Given the description of an element on the screen output the (x, y) to click on. 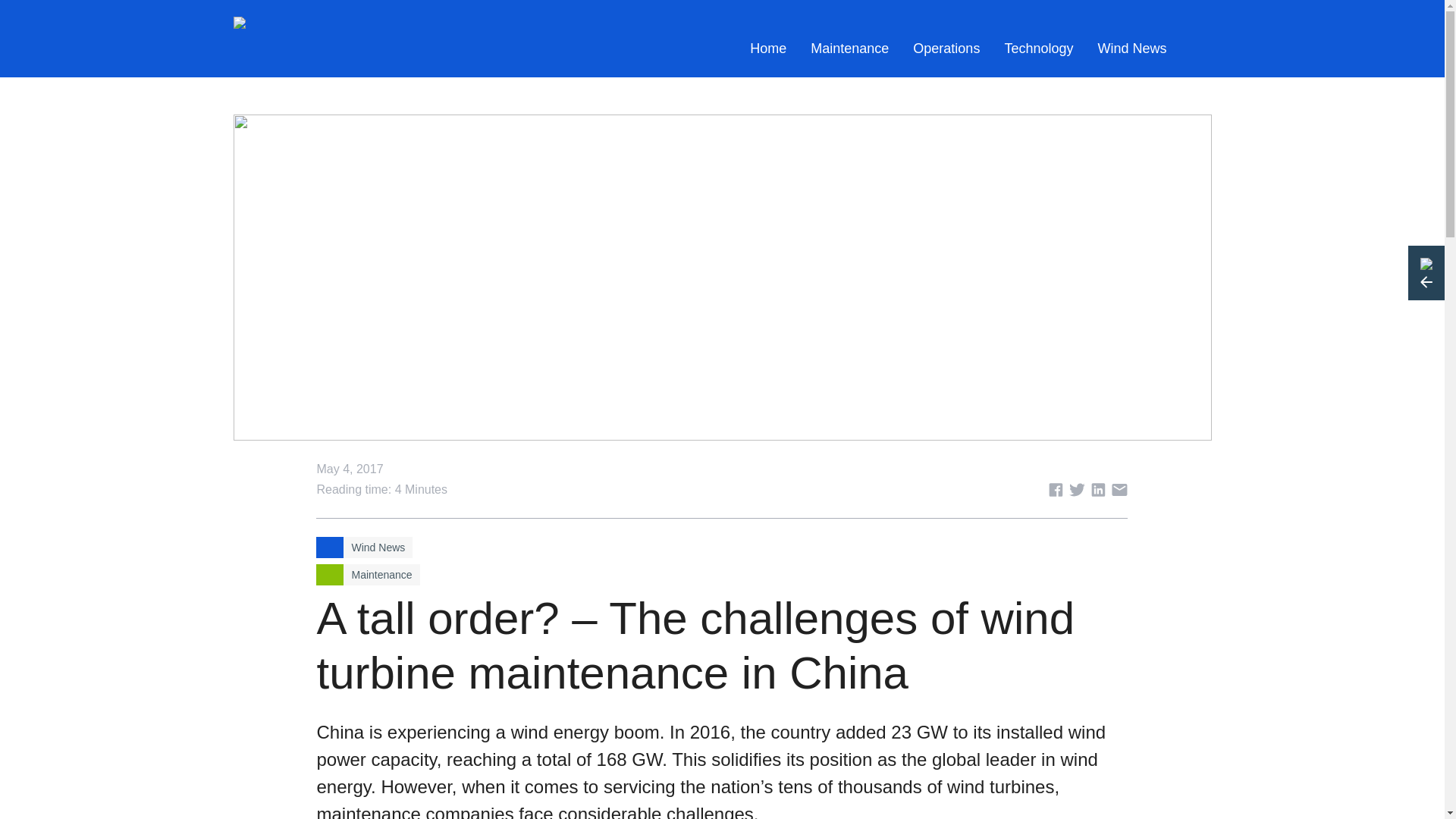
Operations (946, 48)
Technology (1037, 48)
Home (768, 48)
Wind News (1131, 48)
Maintenance (850, 48)
